Given the description of an element on the screen output the (x, y) to click on. 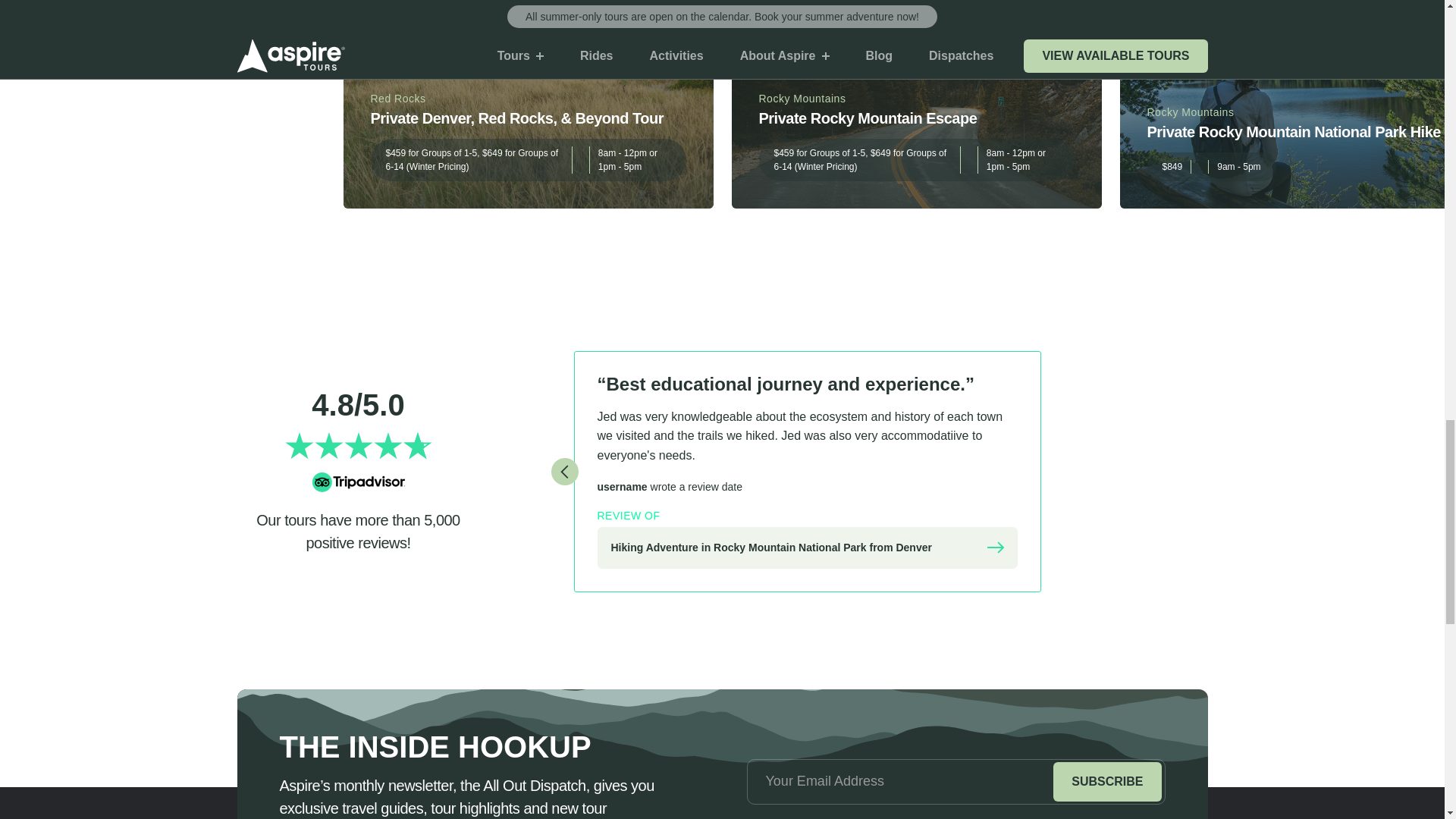
subscribe (1106, 781)
